Given the description of an element on the screen output the (x, y) to click on. 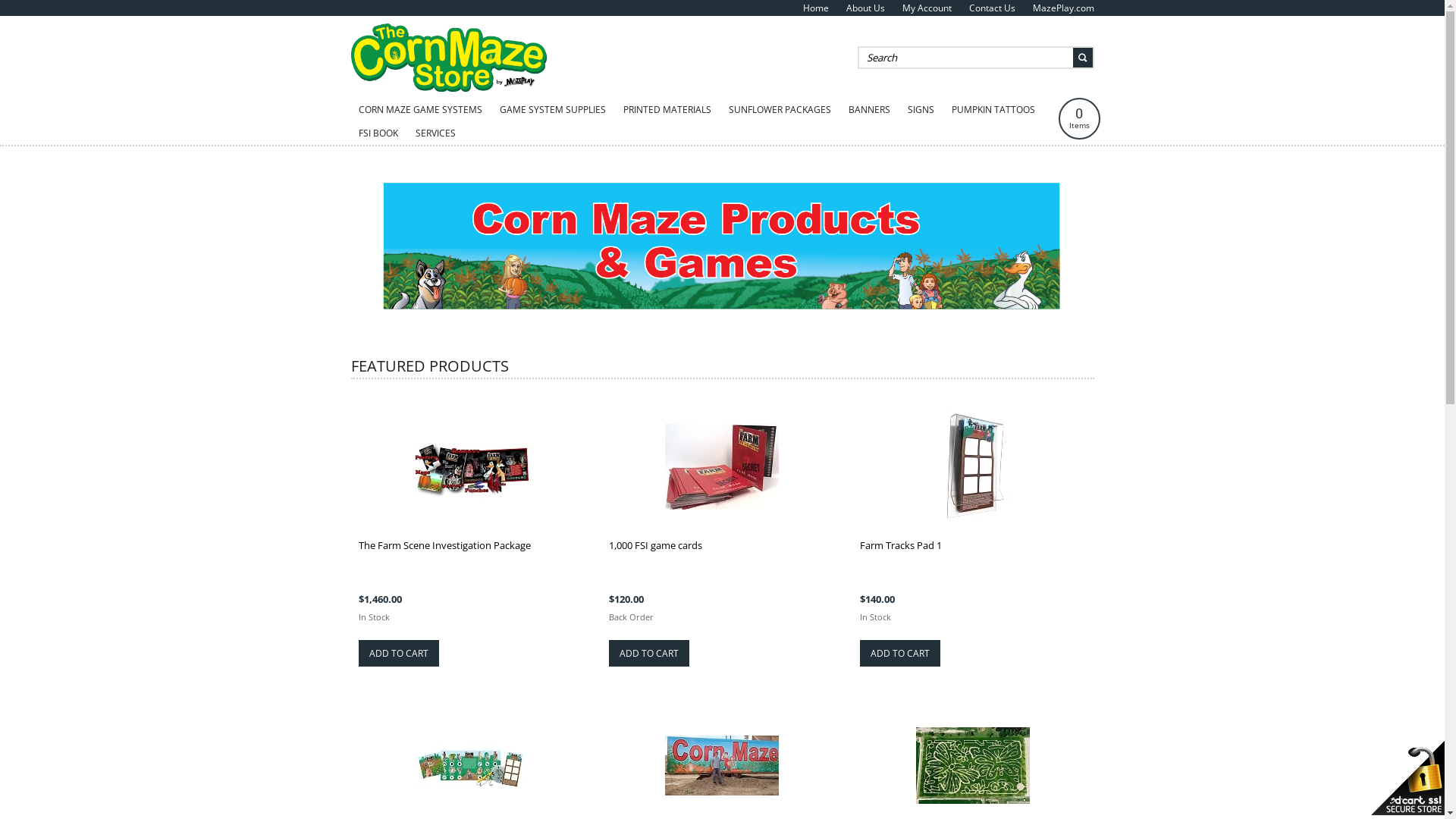
Contact Us Element type: text (992, 7)
PUMPKIN TATTOOS Element type: text (992, 109)
SUNFLOWER PACKAGES Element type: text (778, 109)
MazePlay.com Element type: text (1063, 7)
PRINTED MATERIALS Element type: text (666, 109)
Add To Cart Element type: text (899, 653)
Home Element type: text (815, 7)
SERVICES Element type: text (435, 133)
About Us Element type: text (865, 7)
The Farm Scene Investigation Package Element type: text (443, 545)
0
Items Element type: text (1079, 118)
Farm Tracks Pad 1 Element type: text (900, 545)
Add To Cart Element type: text (648, 653)
GAME SYSTEM SUPPLIES Element type: text (551, 109)
SIGNS Element type: text (920, 109)
FSI BOOK Element type: text (377, 133)
CORN MAZE GAME SYSTEMS Element type: text (419, 109)
My Account Element type: text (926, 7)
1,000 FSI game cards Element type: text (655, 545)
BANNERS Element type: text (868, 109)
Add To Cart Element type: text (397, 653)
